Given the description of an element on the screen output the (x, y) to click on. 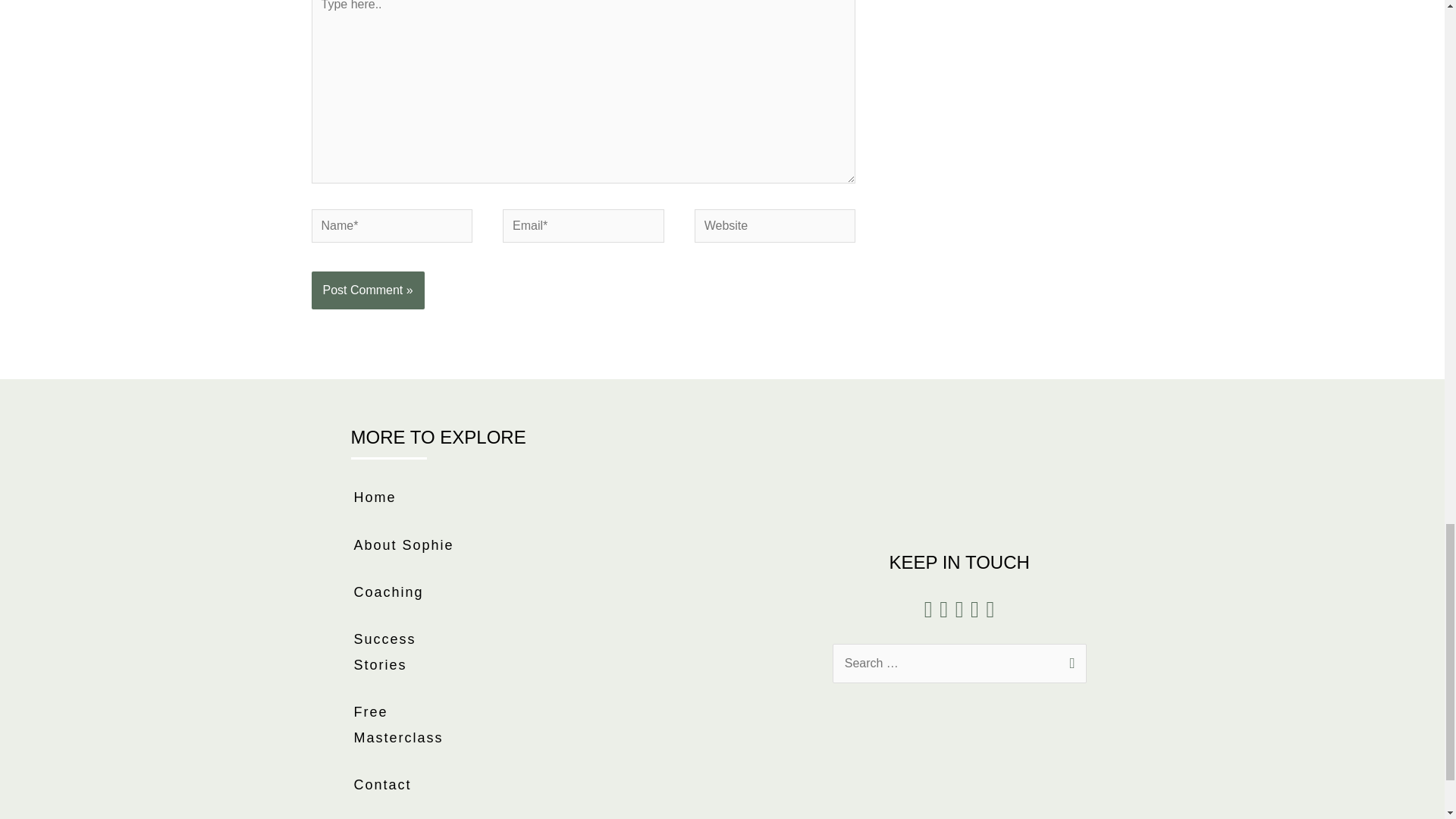
Success Stories (406, 652)
Coaching (406, 592)
Contact (406, 785)
Home (406, 497)
About Sophie (406, 545)
Free Masterclass (406, 725)
